Given the description of an element on the screen output the (x, y) to click on. 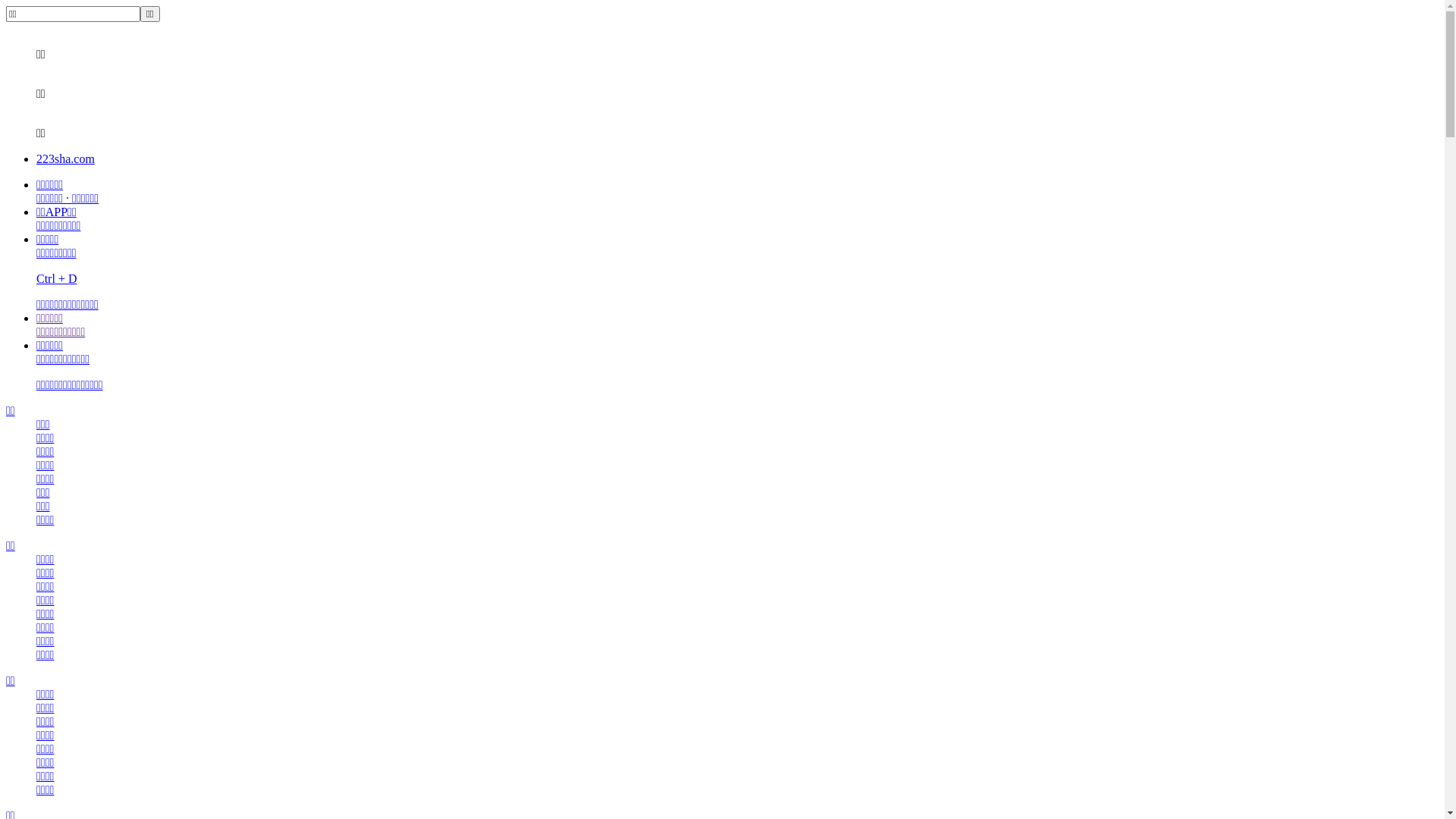
223sha.com Element type: text (65, 158)
